Given the description of an element on the screen output the (x, y) to click on. 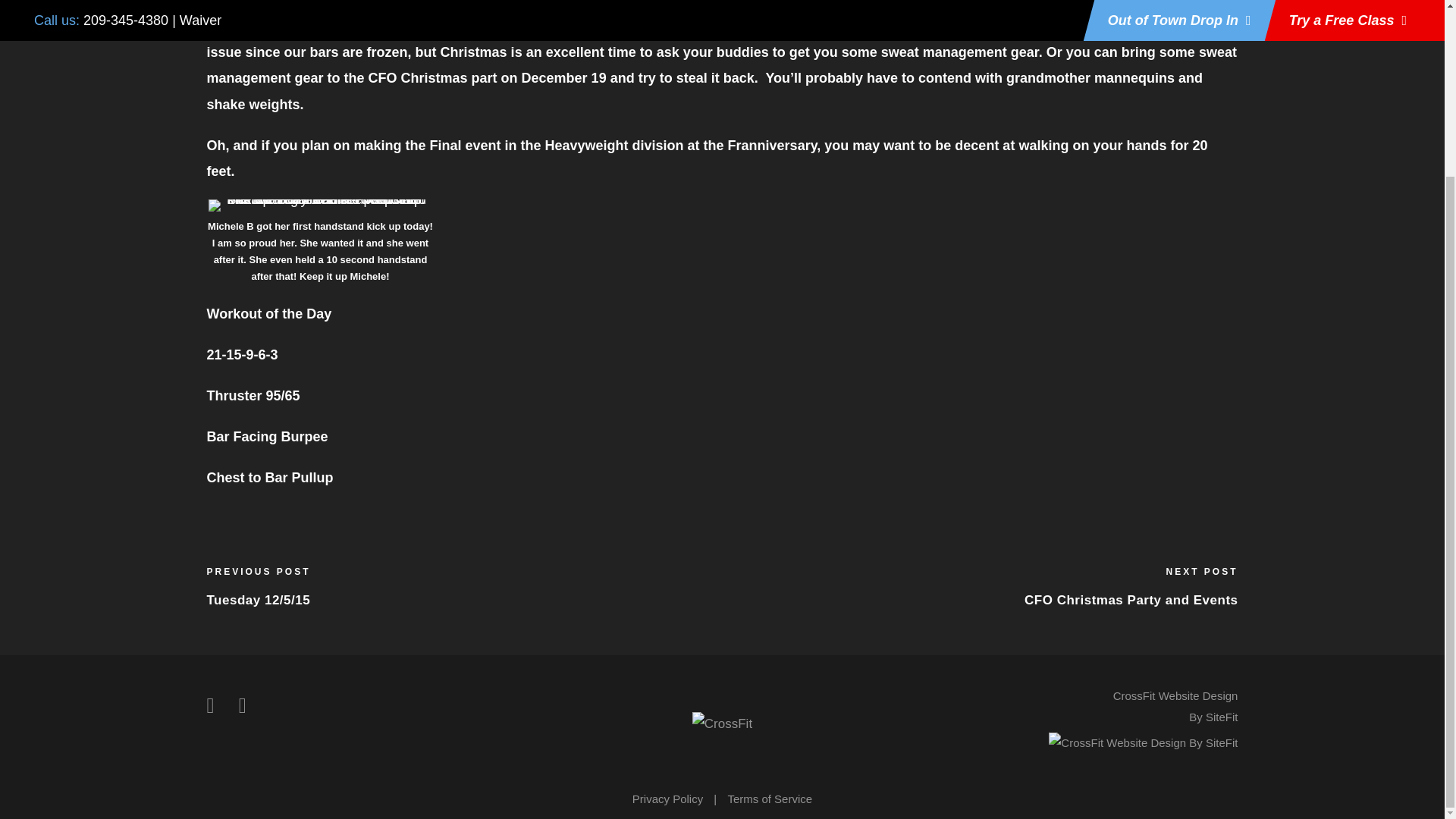
Sweat Management (922, 26)
hospital (371, 26)
CrossFit Website Design By SiteFit (1142, 742)
CrossFit Website Design By SiteFit (1176, 706)
Handstand tips (777, 26)
